Given the description of an element on the screen output the (x, y) to click on. 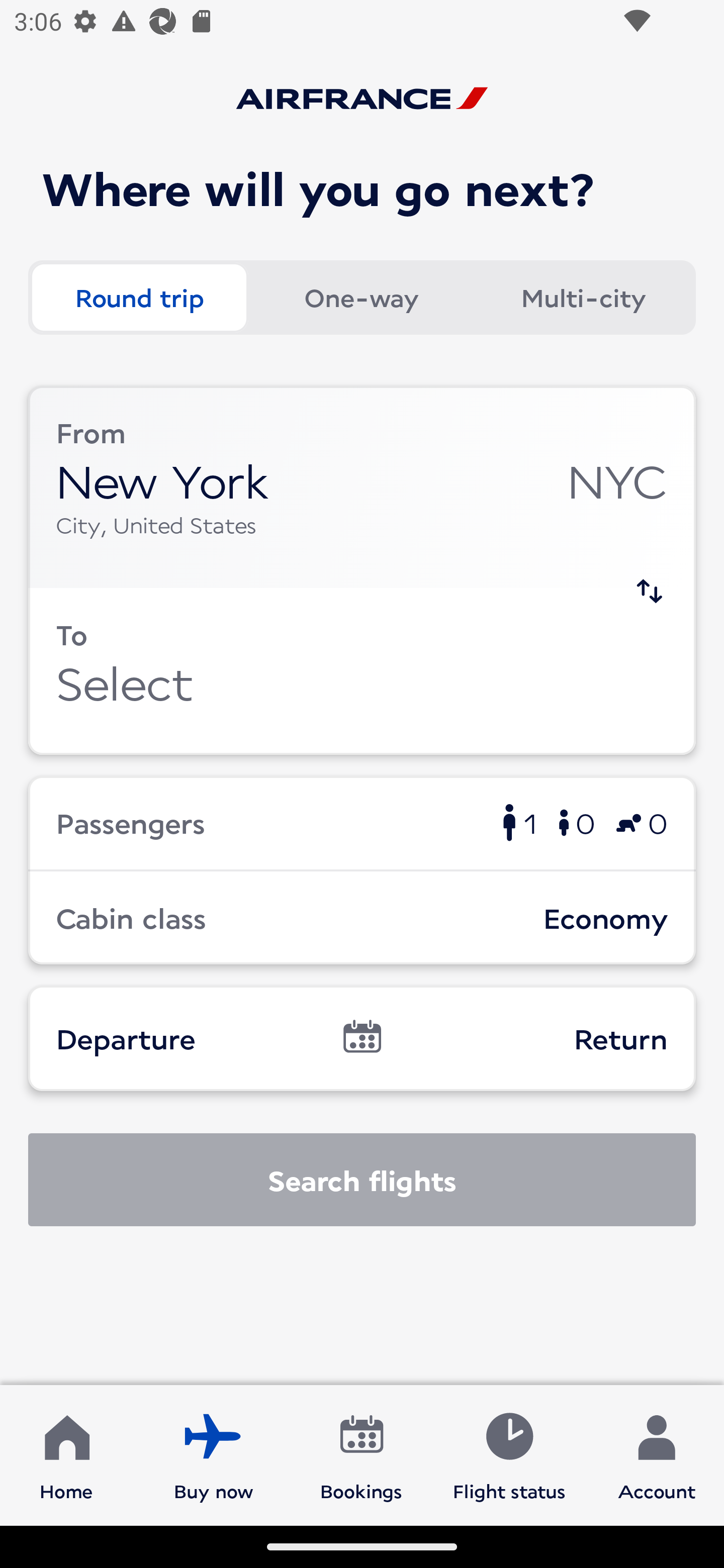
Round trip (139, 297)
One-way (361, 297)
Multi-city (583, 297)
From New York NYC City, United States (361, 486)
To Select (361, 671)
Passengers 1 0 0 (361, 822)
Cabin class Economy (361, 917)
Departure Return (361, 1038)
Search flights (361, 1179)
Home (66, 1454)
Bookings (361, 1454)
Flight status (509, 1454)
Account (657, 1454)
